Given the description of an element on the screen output the (x, y) to click on. 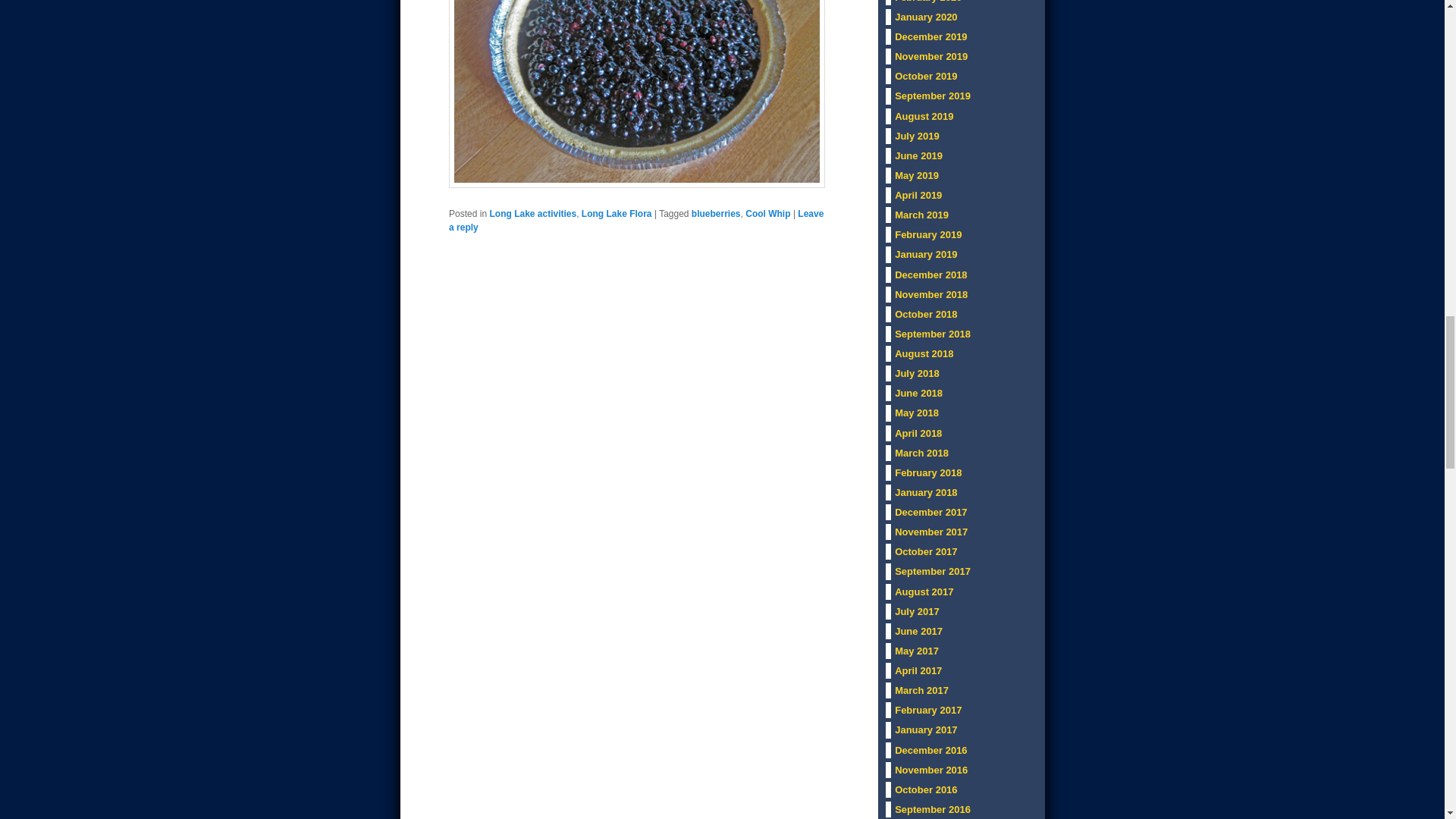
Long Lake Flora (616, 213)
blueberries (716, 213)
Leave a reply (636, 220)
Cool Whip (767, 213)
Long Lake activities (532, 213)
